Given the description of an element on the screen output the (x, y) to click on. 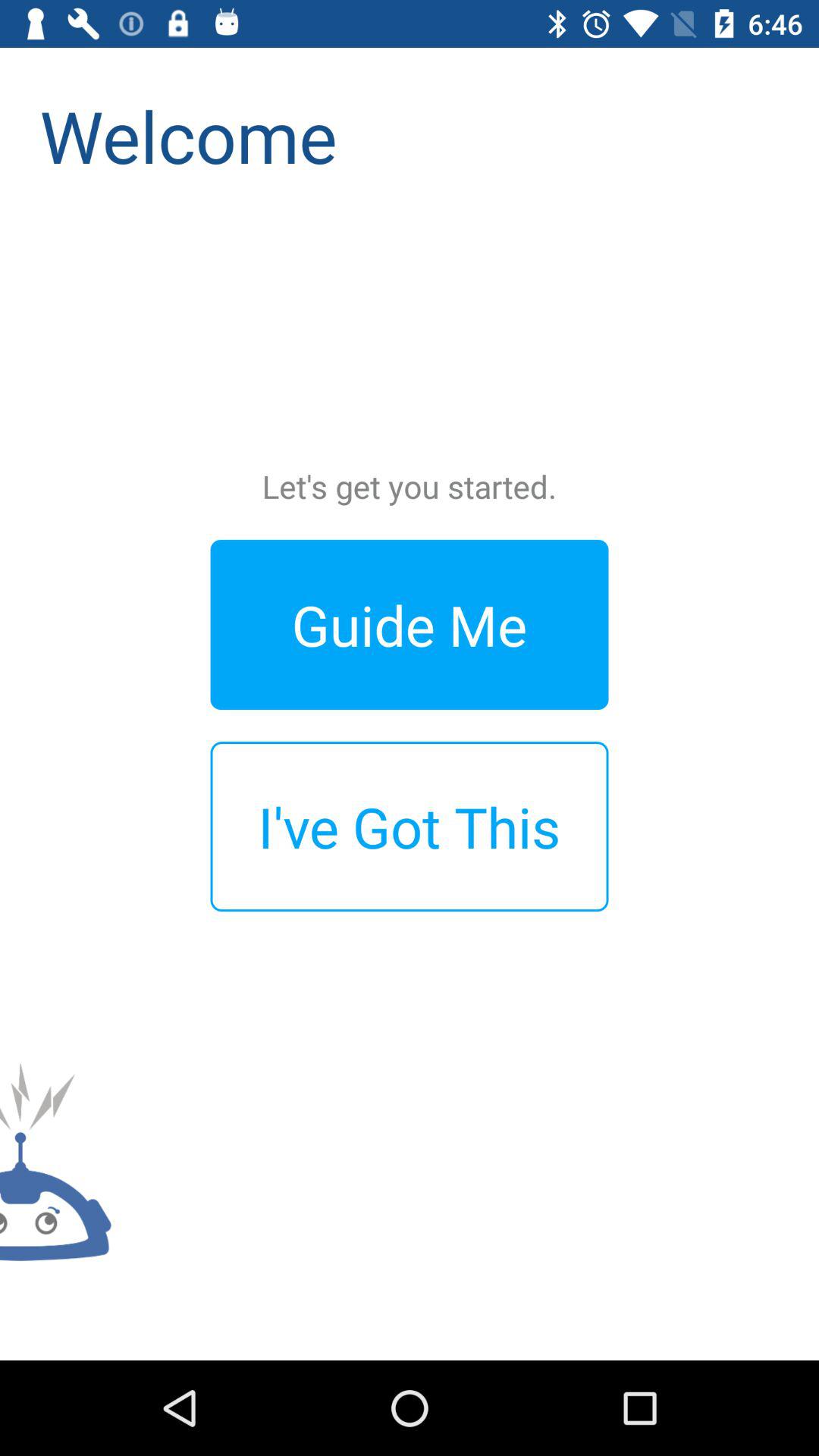
scroll to i ve got icon (409, 826)
